Given the description of an element on the screen output the (x, y) to click on. 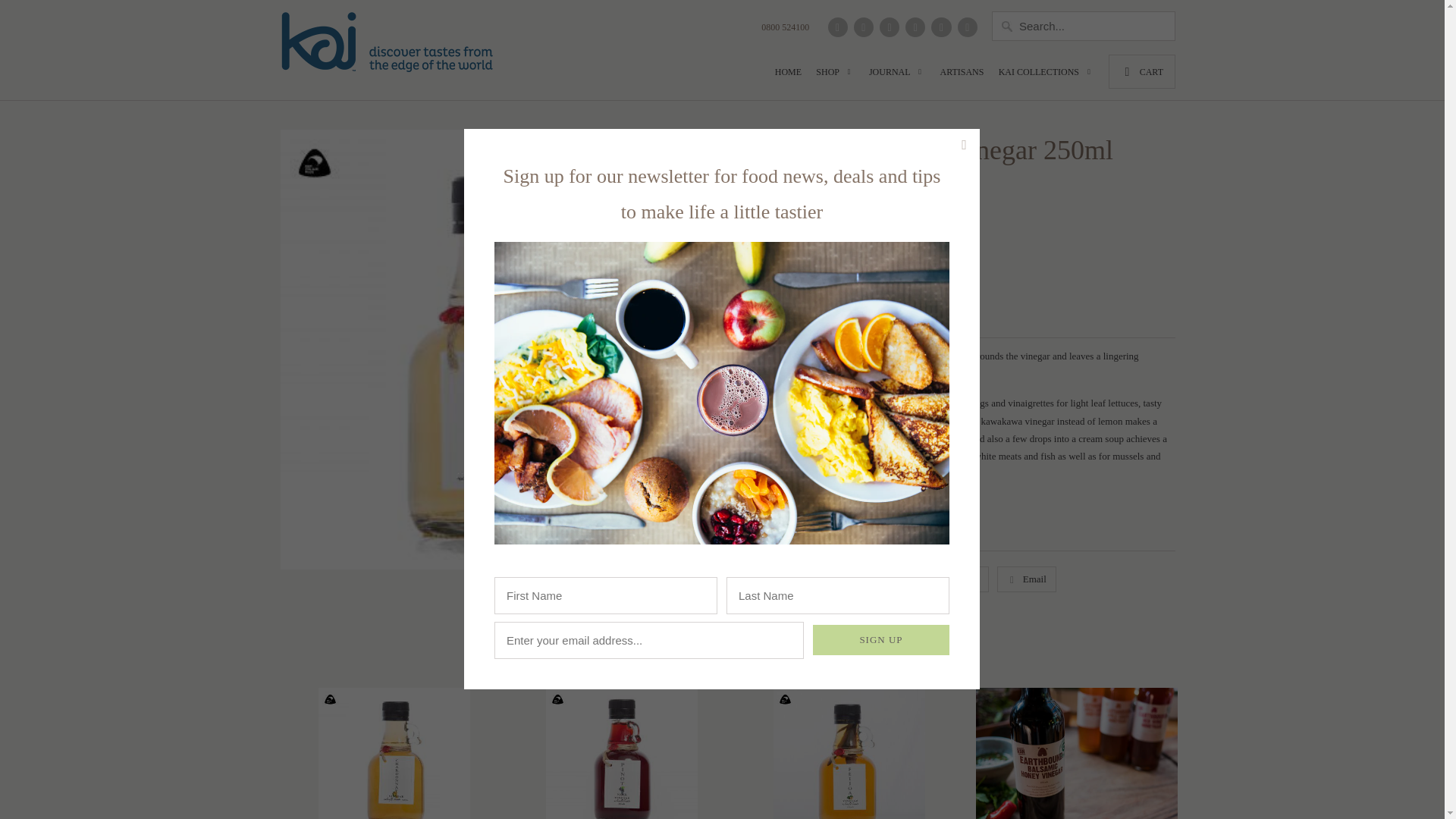
1 (757, 293)
0800 524100 (785, 30)
Email Kai NZ Foods Limited (967, 26)
Email this to a friend (1027, 579)
HOME (788, 75)
Kai NZ Foods Limited on Twitter (837, 26)
Cart (1141, 71)
Kai NZ Foods Limited on YouTube (889, 26)
Artisan Vinegar (799, 531)
Share this on Facebook (832, 579)
SHOP (834, 75)
Kai NZ Foods Limited on Facebook (863, 26)
Share this on Pinterest (898, 579)
Kai NZ Foods Limited on LinkedIn (914, 26)
Sign Up (880, 639)
